Given the description of an element on the screen output the (x, y) to click on. 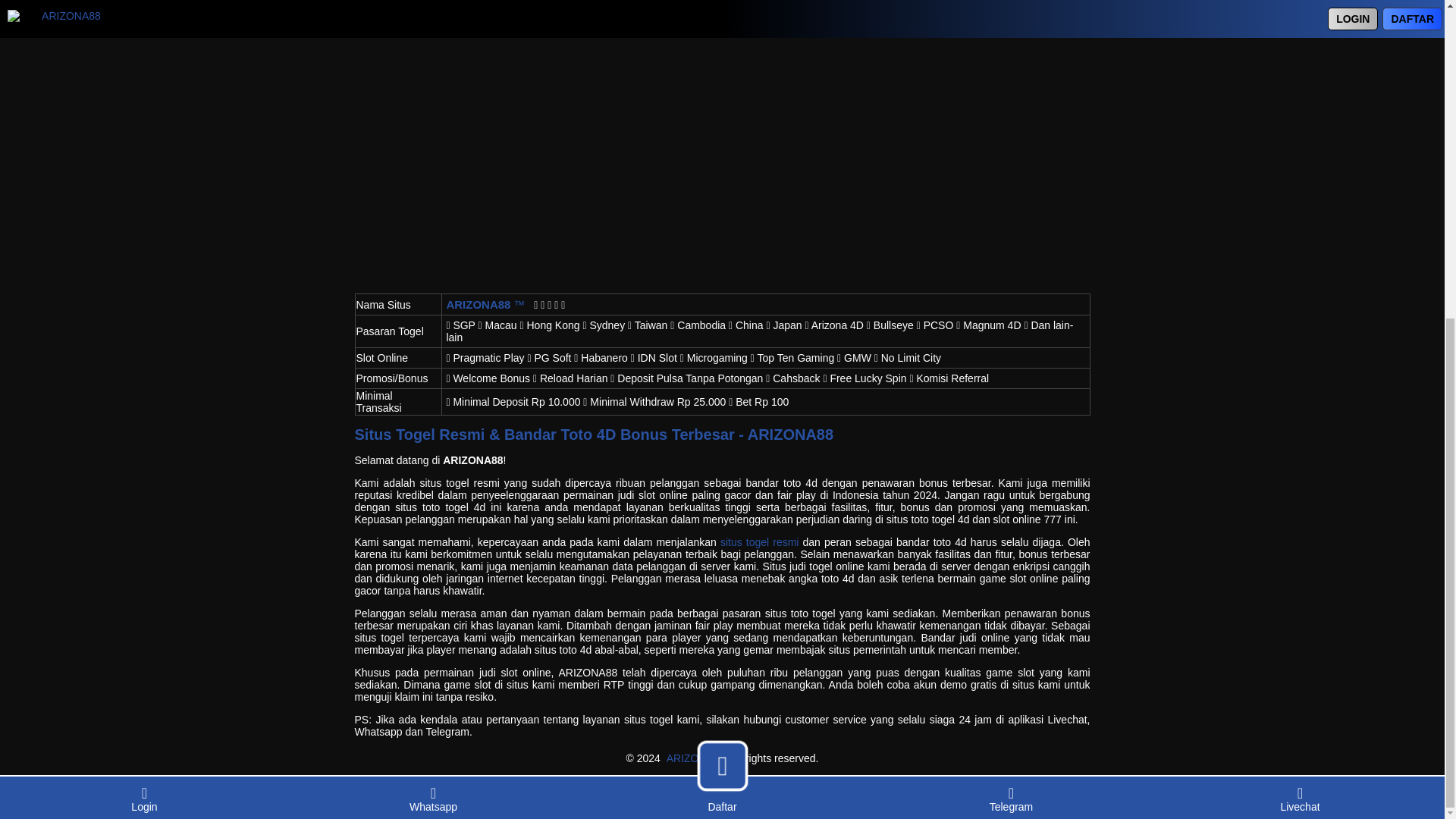
Daftar (722, 291)
Whatsapp (433, 283)
Login (144, 283)
Telegram (1011, 283)
situs togel resmi (759, 541)
ARIZONA88 (695, 758)
